Given the description of an element on the screen output the (x, y) to click on. 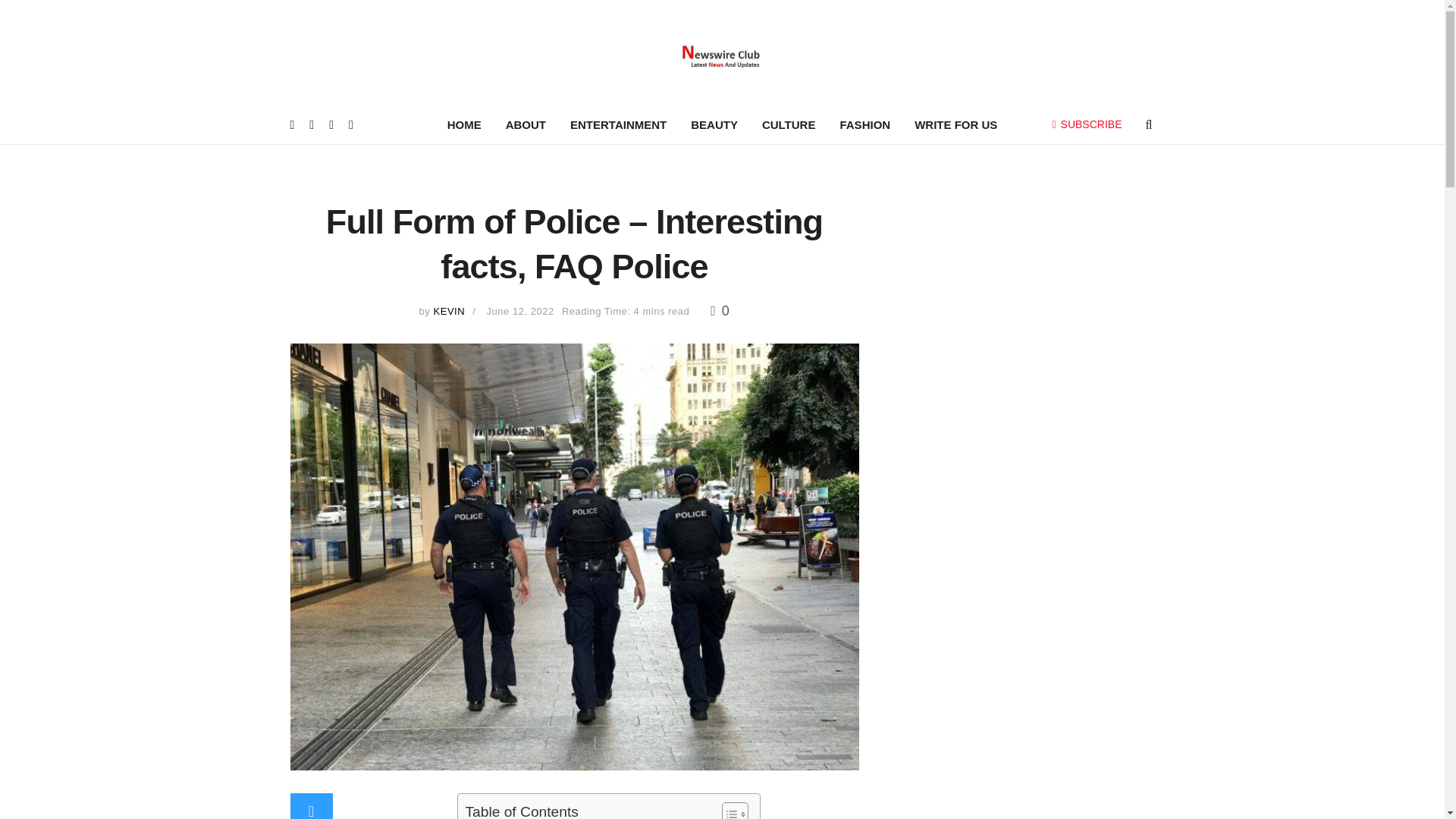
FASHION (864, 125)
WRITE FOR US (955, 125)
SUBSCRIBE (1087, 123)
ENTERTAINMENT (617, 125)
BEAUTY (713, 125)
0 (719, 310)
CULTURE (788, 125)
ABOUT (525, 125)
HOME (464, 125)
KEVIN (449, 310)
June 12, 2022 (520, 310)
